Given the description of an element on the screen output the (x, y) to click on. 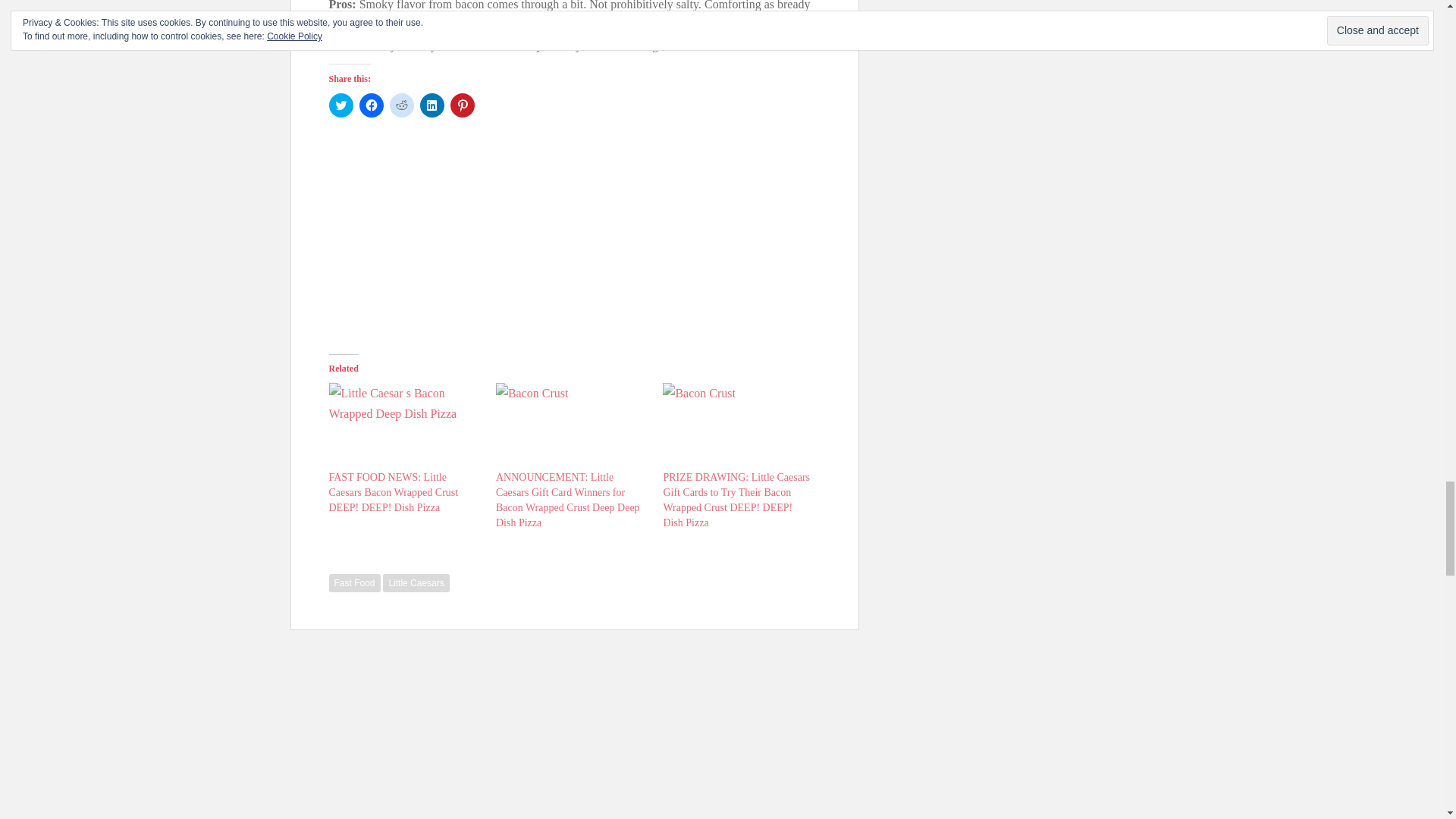
Click to share on Reddit (401, 105)
Click to share on Pinterest (461, 105)
Click to share on Facebook (371, 105)
Click to share on Twitter (341, 105)
Little Caesars (415, 583)
Fast Food (354, 583)
